Given the description of an element on the screen output the (x, y) to click on. 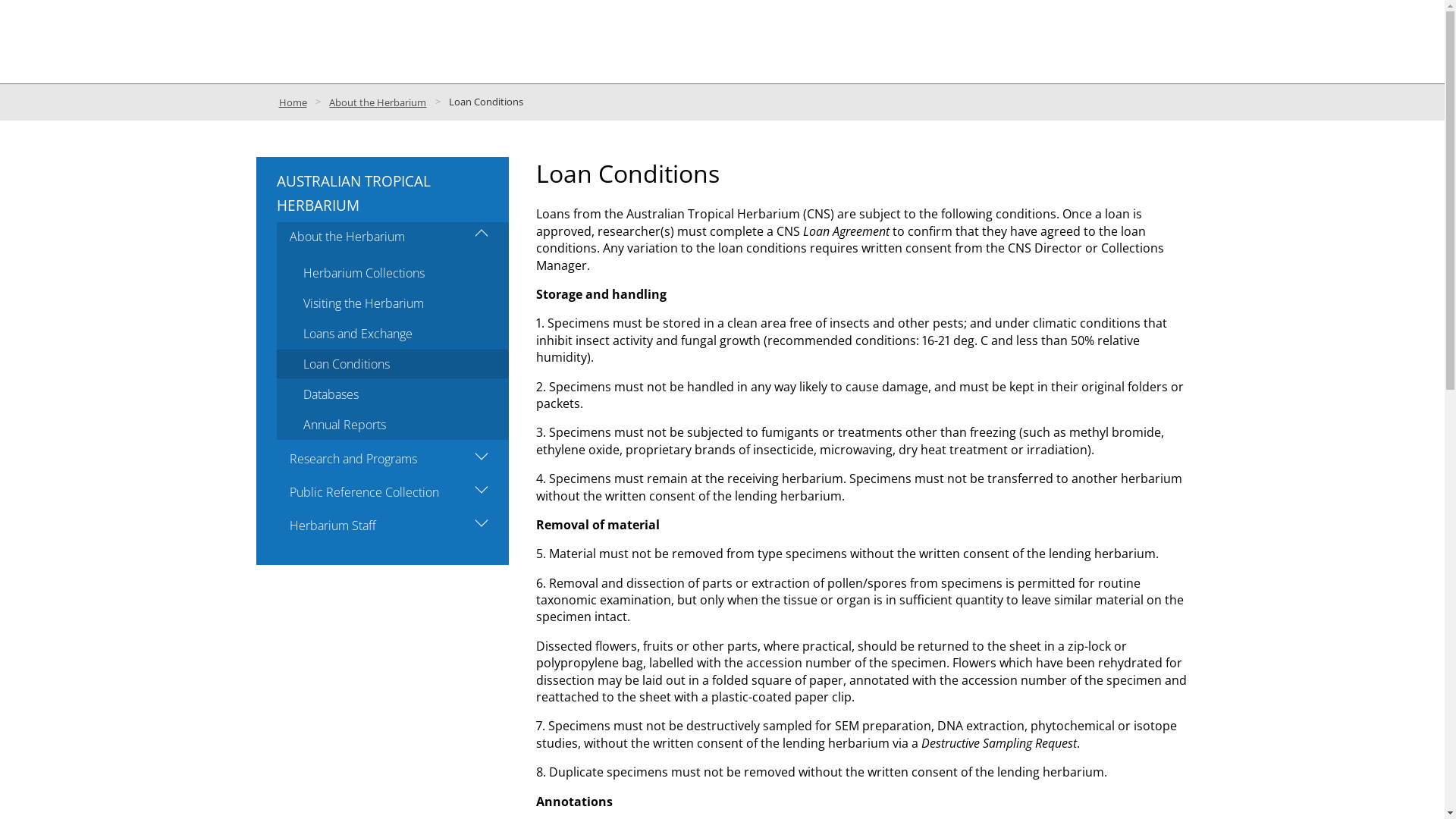
Home Element type: text (293, 102)
Herbarium Collections Element type: text (392, 272)
AUSTRALIAN TROPICAL HERBARIUM Element type: text (352, 193)
About the Herbarium Element type: text (392, 236)
Loans and Exchange Element type: text (392, 333)
Databases Element type: text (392, 393)
Annual Reports Element type: text (392, 424)
Herbarium Staff Element type: text (392, 525)
Public Reference Collection Element type: text (392, 491)
About the Herbarium Element type: text (377, 102)
Research and Programs Element type: text (392, 458)
Visiting the Herbarium Element type: text (392, 302)
Loan Conditions Element type: text (392, 363)
